Given the description of an element on the screen output the (x, y) to click on. 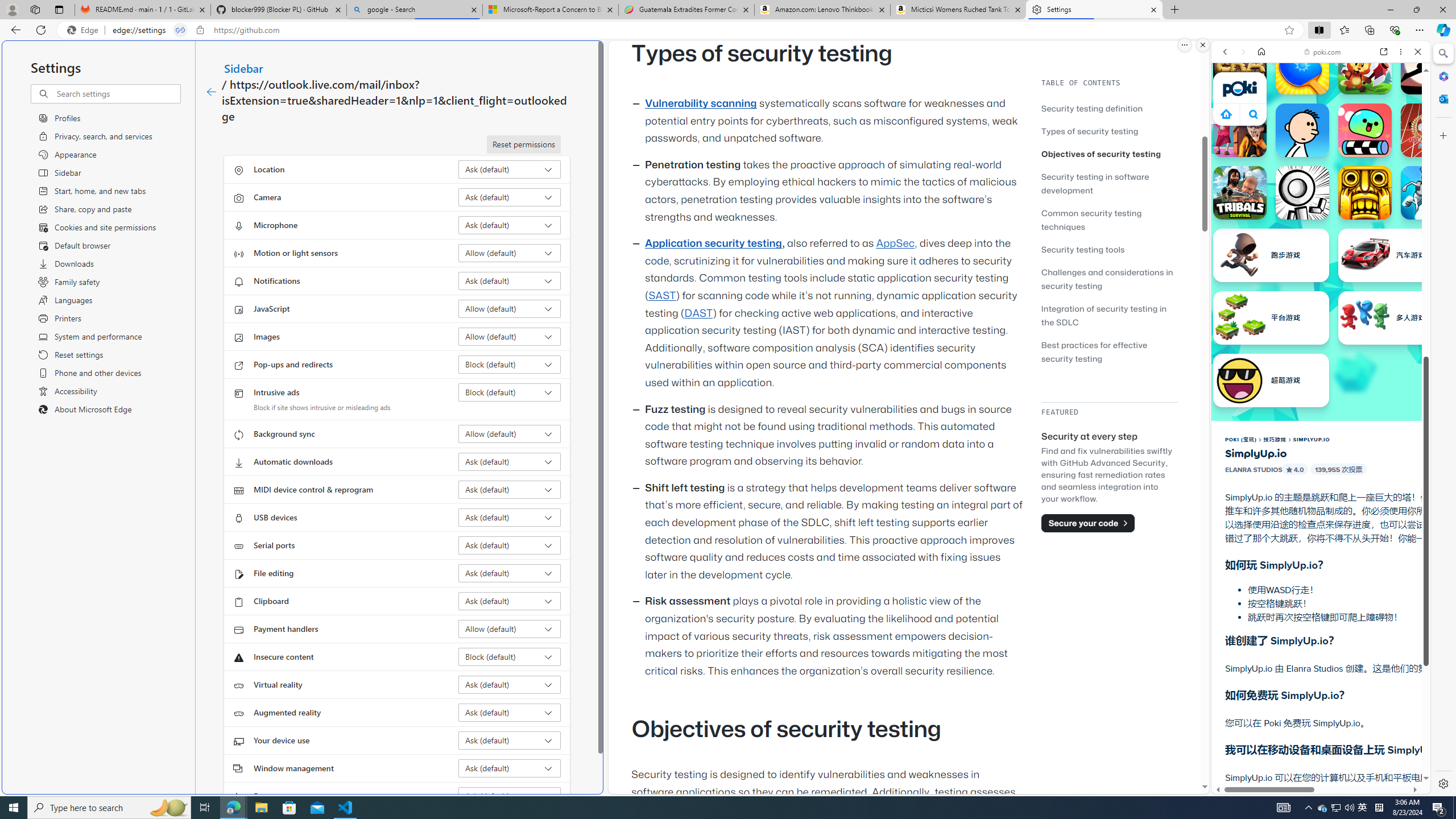
Temple Run 2 (1364, 192)
Show More Shooting Games (1390, 296)
Security testing definition (1091, 108)
Fox Island Builder (1364, 67)
Poor Eddie Poor Eddie (1302, 130)
Window management Ask (default) (509, 768)
The Speed Ninja The Speed Ninja (1427, 67)
G-Switch 3 G-Switch 3 (1427, 192)
poki.com (1322, 51)
G-Switch 3 (1427, 192)
Best practices for effective security testing (1094, 351)
Challenges and considerations in security testing (1107, 278)
